Given the description of an element on the screen output the (x, y) to click on. 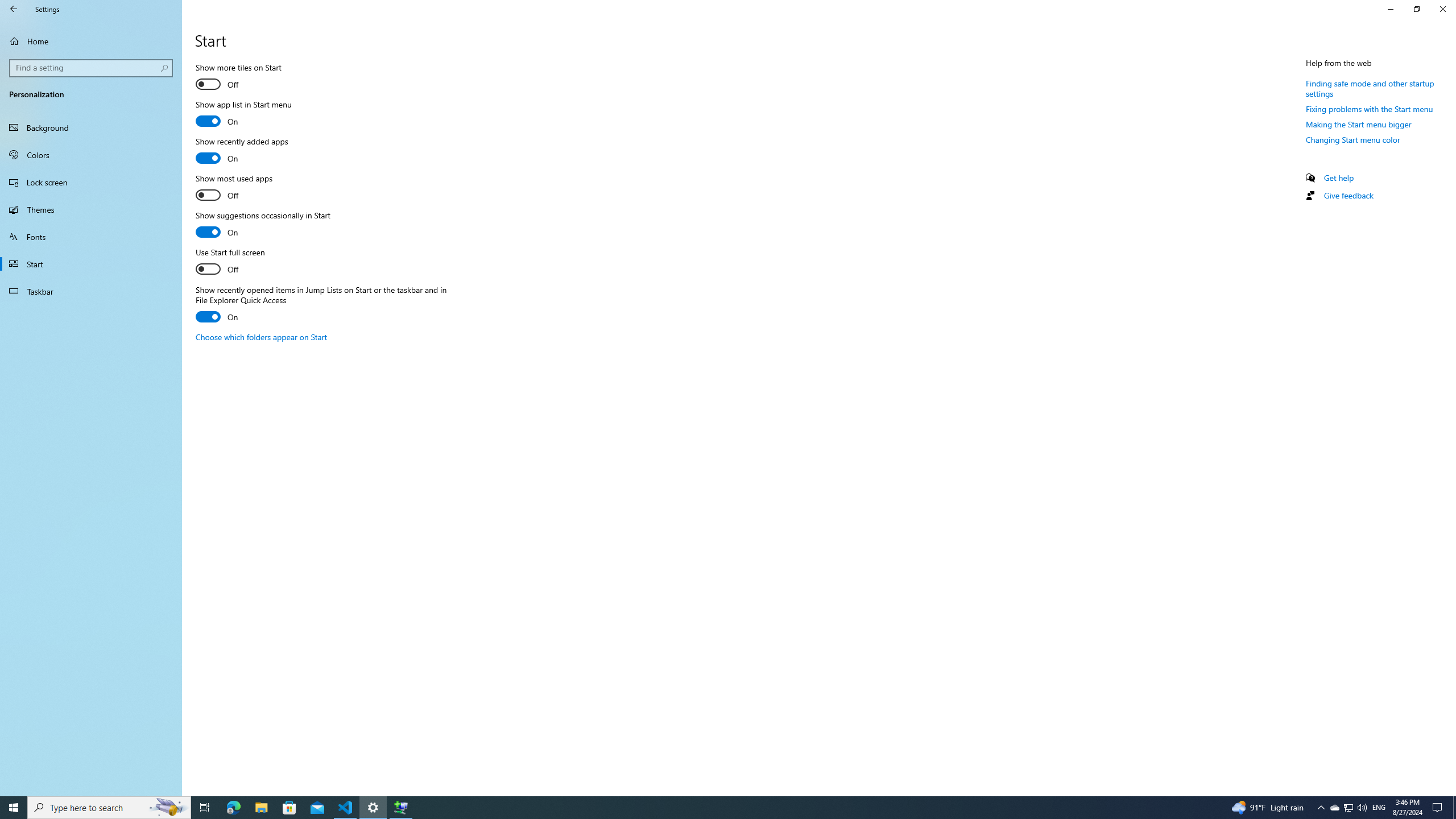
Get help (1338, 177)
File Explorer (261, 807)
User Promoted Notification Area (1347, 807)
Search box, Find a setting (91, 67)
Background (91, 126)
Finding safe mode and other startup settings (1370, 87)
Making the Start menu bigger (1359, 123)
Close Settings (1333, 807)
Choose which folders appear on Start (1442, 9)
Show recently added apps (261, 336)
Give feedback (241, 151)
Extensible Wizards Host Process - 1 running window (1348, 195)
